Given the description of an element on the screen output the (x, y) to click on. 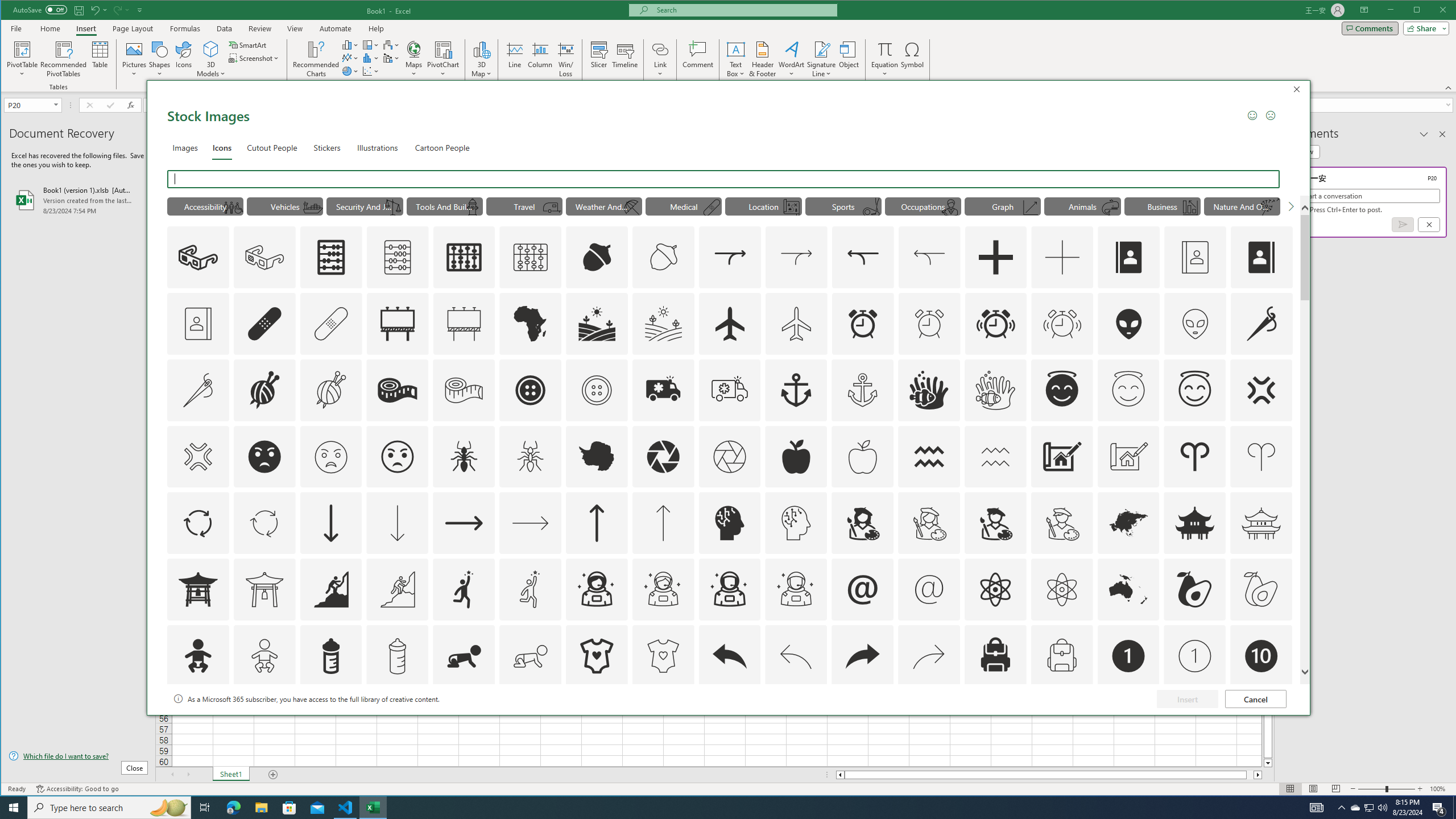
AutomationID: Icons_AsianTemple1 (197, 589)
AutomationID: Icons_AlarmClock_M (928, 323)
AutomationID: Icons_ArtificialIntelligence_M (796, 522)
Show desktop (1454, 807)
AutomationID: Icons_Aperture_M (729, 456)
Object... (848, 59)
AutomationID: Icons_Acquisition_RTL (863, 256)
Symbol... (912, 59)
AutomationID: Icons_ArrowUp (596, 522)
